Given the description of an element on the screen output the (x, y) to click on. 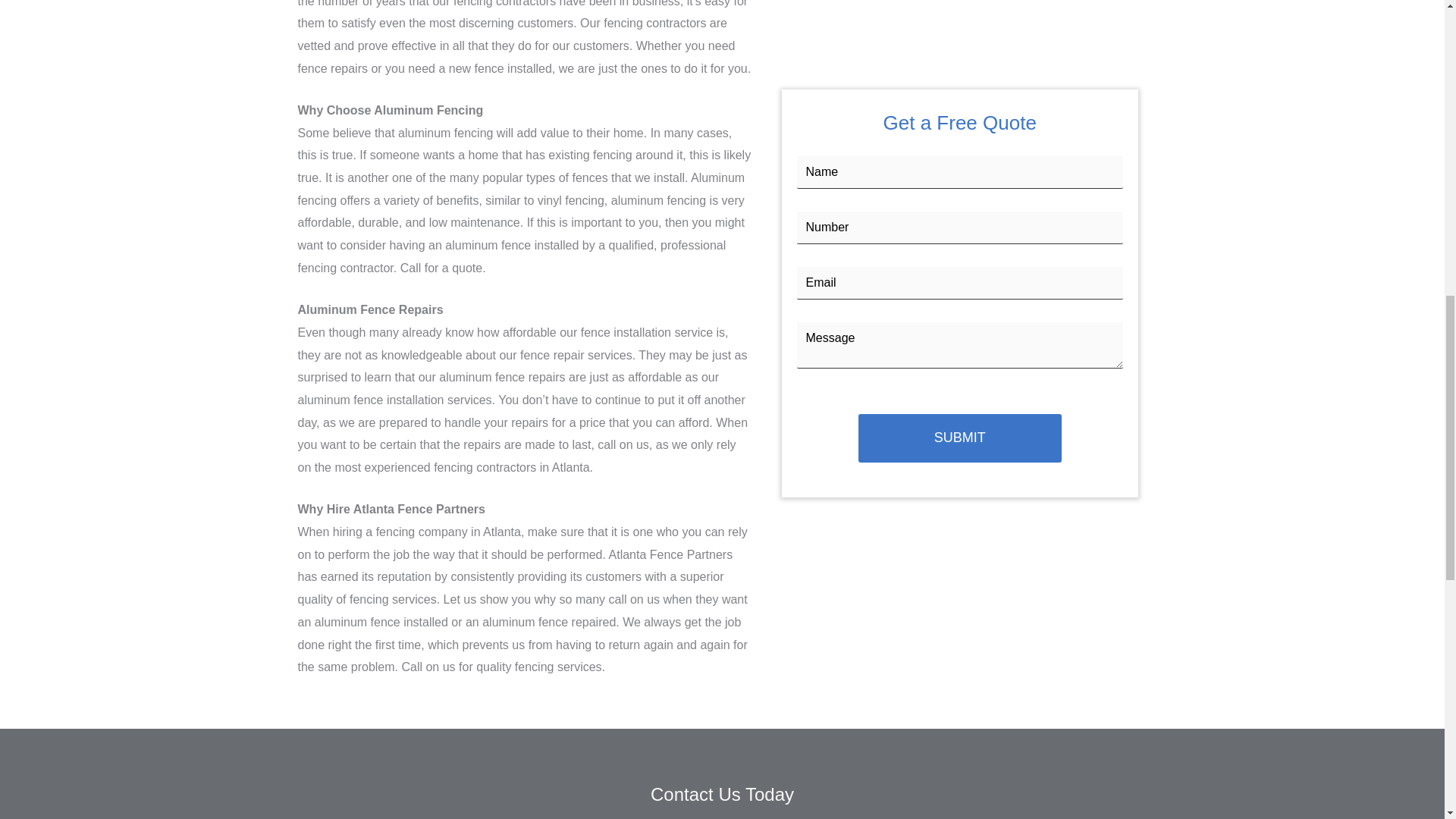
SUBMIT (960, 437)
